Given the description of an element on the screen output the (x, y) to click on. 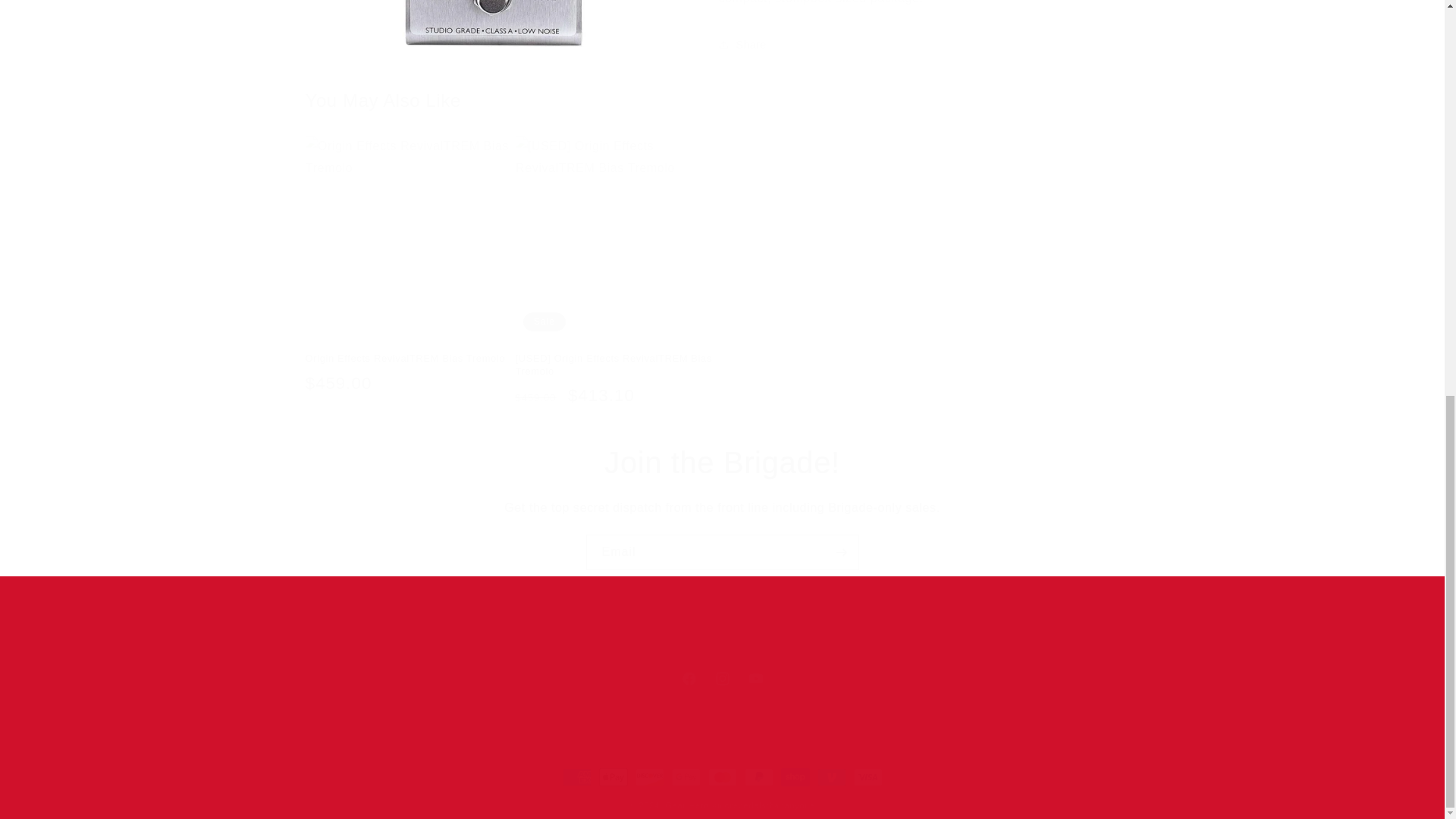
Email (722, 552)
Join the Brigade! (721, 678)
